Given the description of an element on the screen output the (x, y) to click on. 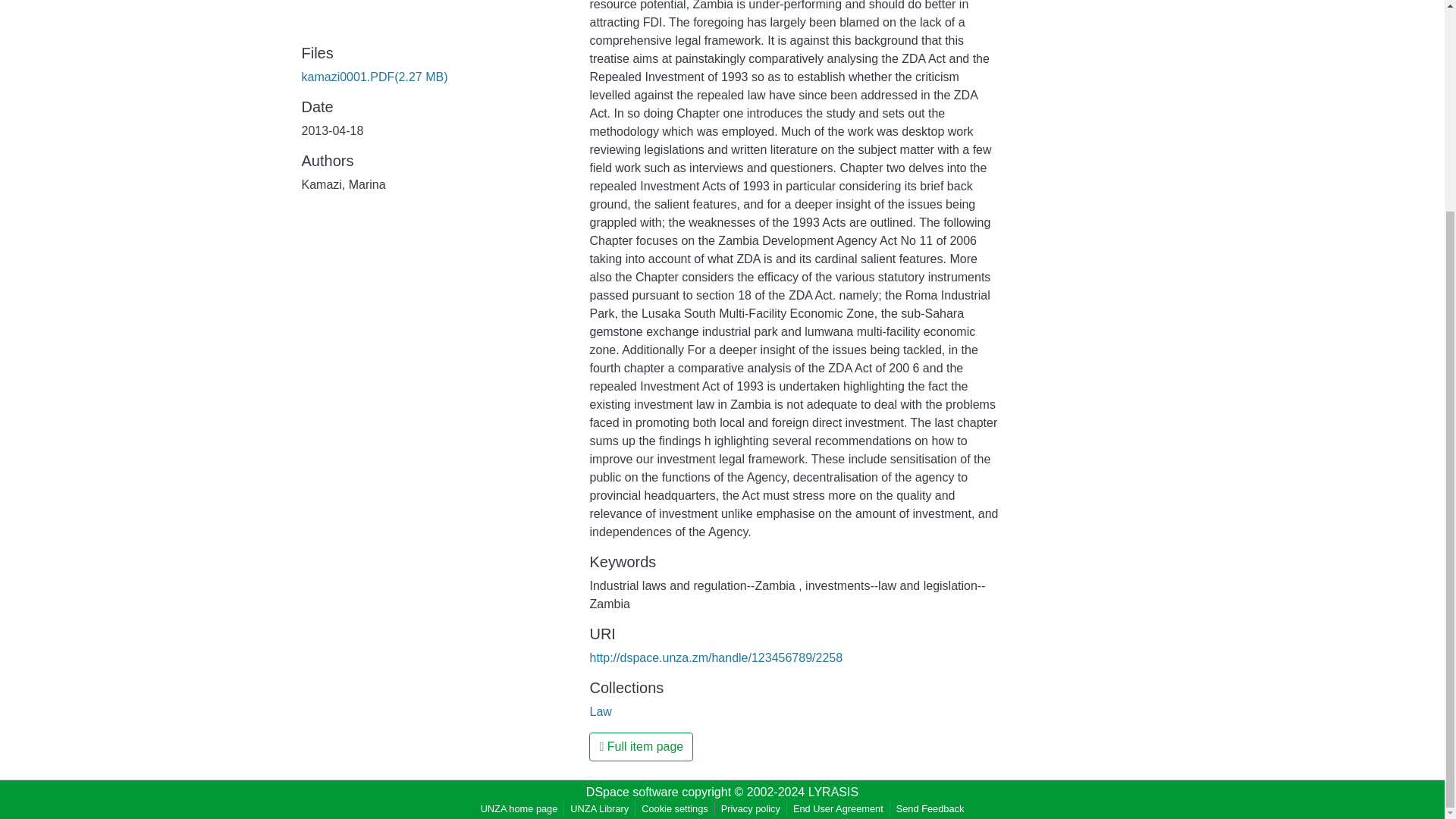
Cookie settings (674, 808)
DSpace software (632, 791)
Privacy policy (750, 808)
End User Agreement (838, 808)
UNZA Library (599, 808)
Full item page (641, 746)
Send Feedback (930, 808)
Law (600, 711)
LYRASIS (833, 791)
UNZA home page (519, 808)
